Given the description of an element on the screen output the (x, y) to click on. 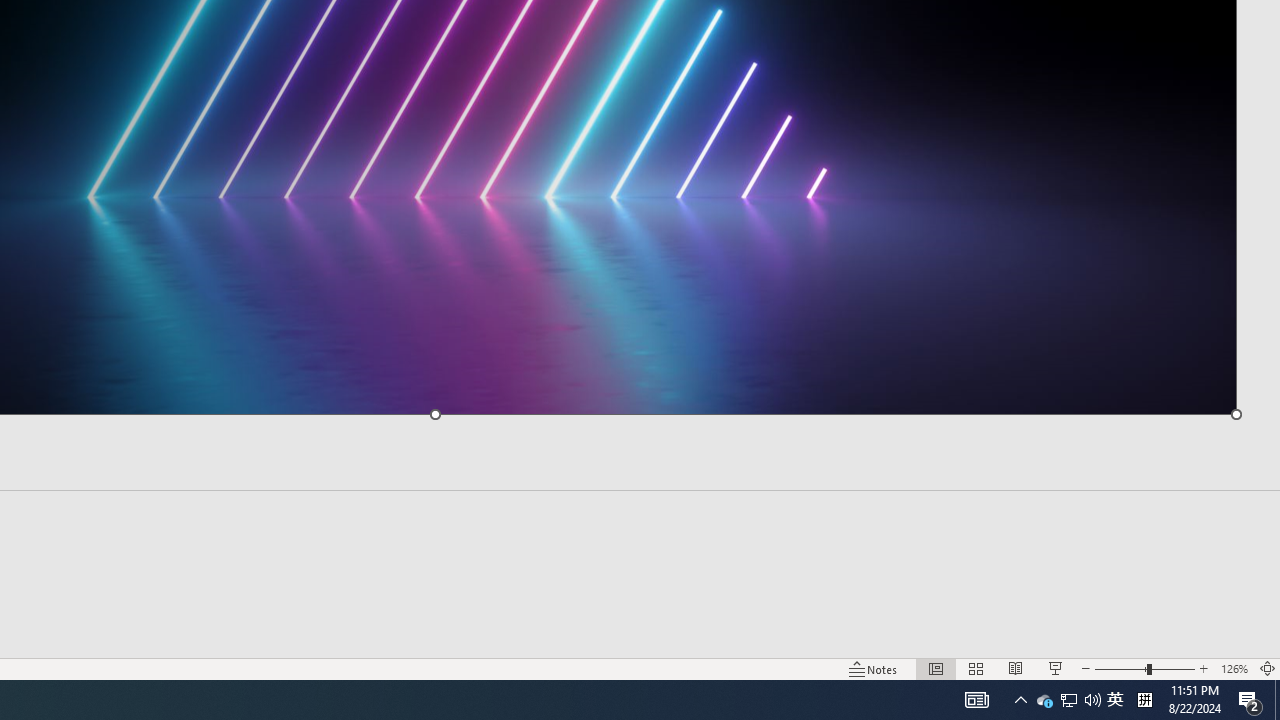
Zoom 126% (1234, 668)
